Given the description of an element on the screen output the (x, y) to click on. 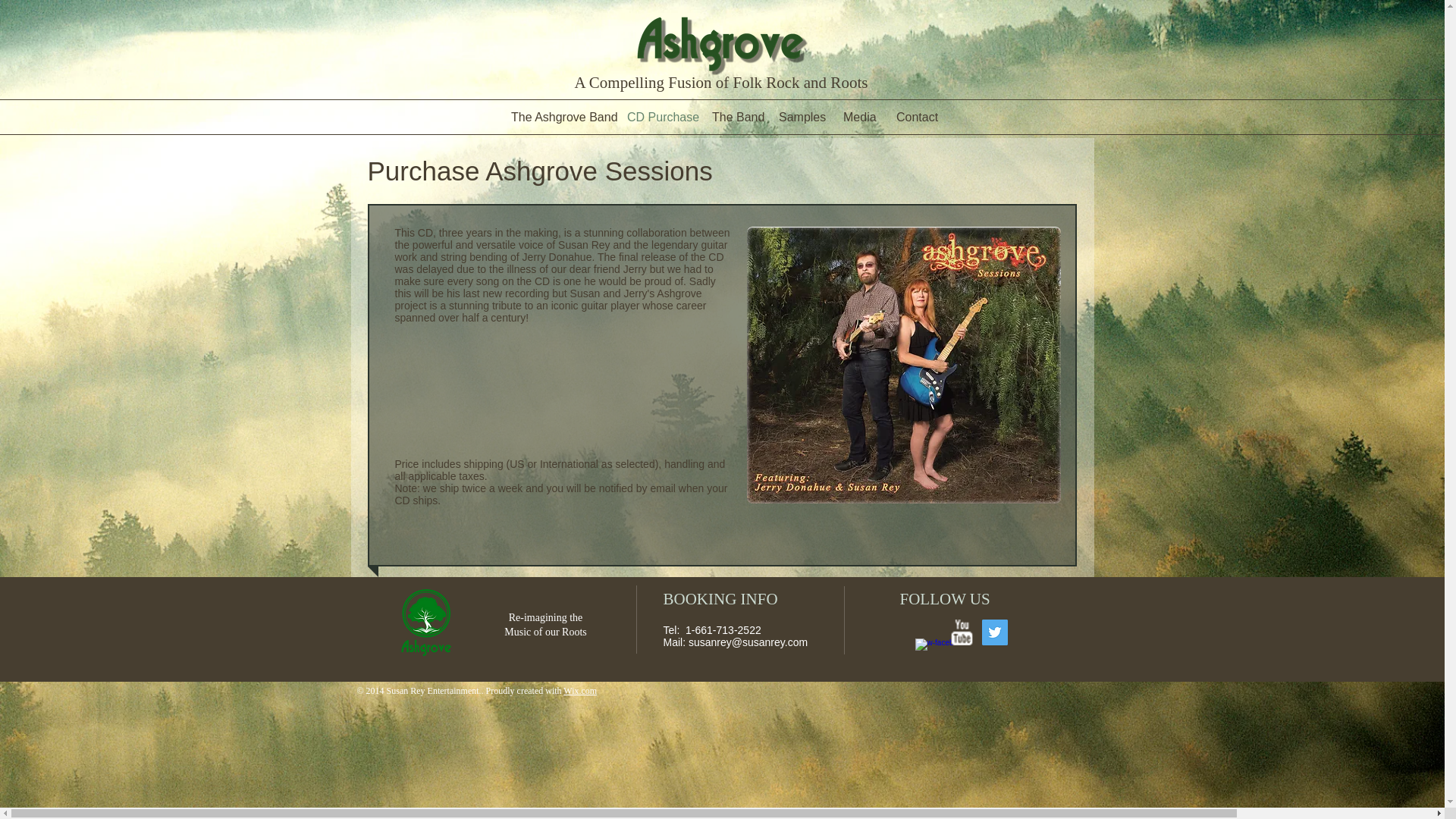
Contact (914, 116)
Media (858, 116)
Wix.com (579, 690)
SmallLogo.png (425, 622)
Samples (799, 116)
BandNameWeb2.png (719, 44)
CD Purchase (657, 116)
The Ashgrove Band (557, 116)
The Band (733, 116)
